Given the description of an element on the screen output the (x, y) to click on. 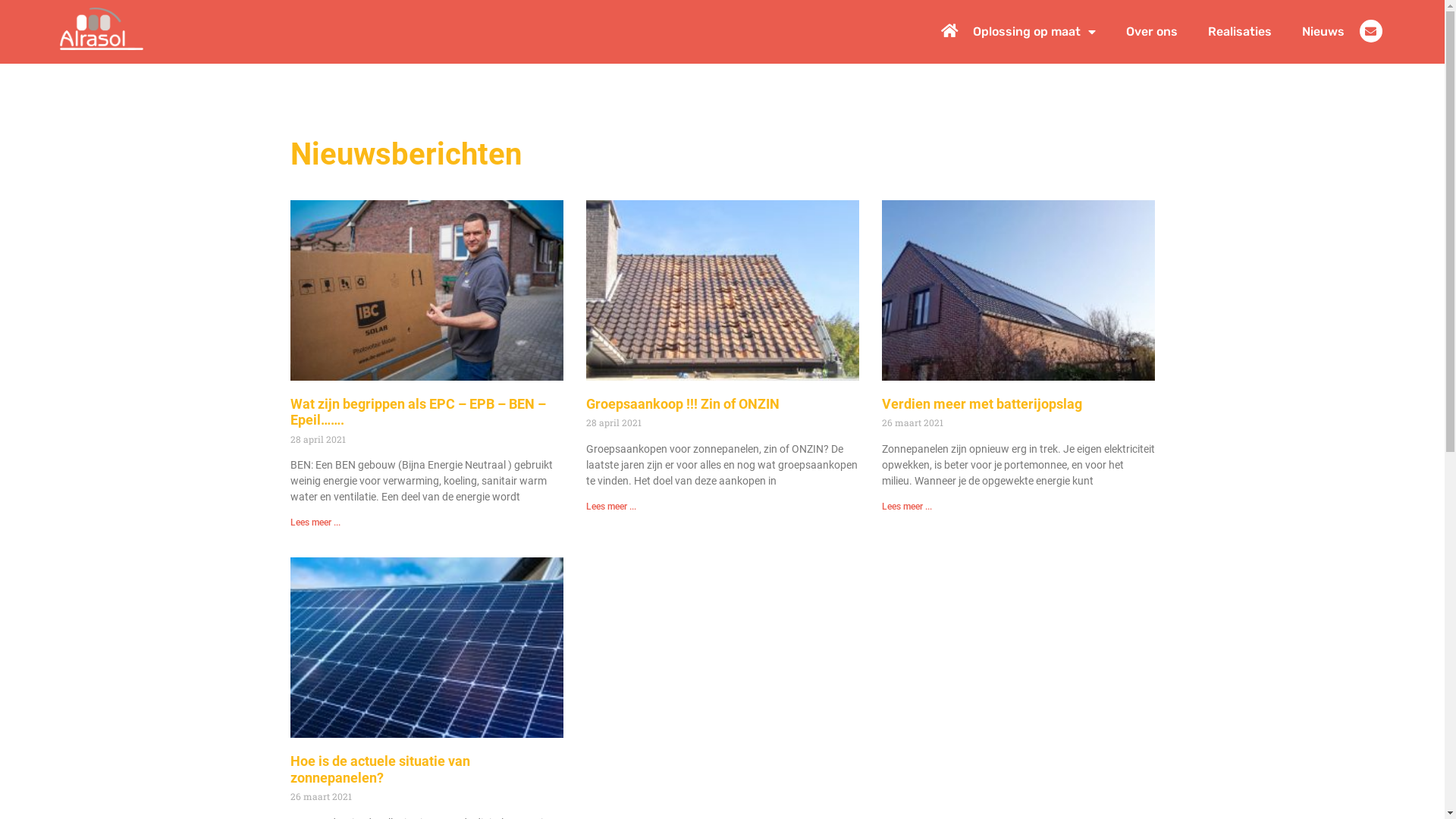
Hoe is de actuele situatie van zonnepanelen? Element type: text (379, 769)
Lees meer ... Element type: text (314, 522)
Nieuws Element type: text (1322, 31)
Verdien meer met batterijopslag Element type: text (981, 403)
Oplossing op maat Element type: text (1033, 31)
Realisaties Element type: text (1239, 31)
Groepsaankoop !!! Zin of ONZIN Element type: text (681, 403)
Lees meer ... Element type: text (906, 506)
Lees meer ... Element type: text (610, 506)
Over ons Element type: text (1151, 31)
